Given the description of an element on the screen output the (x, y) to click on. 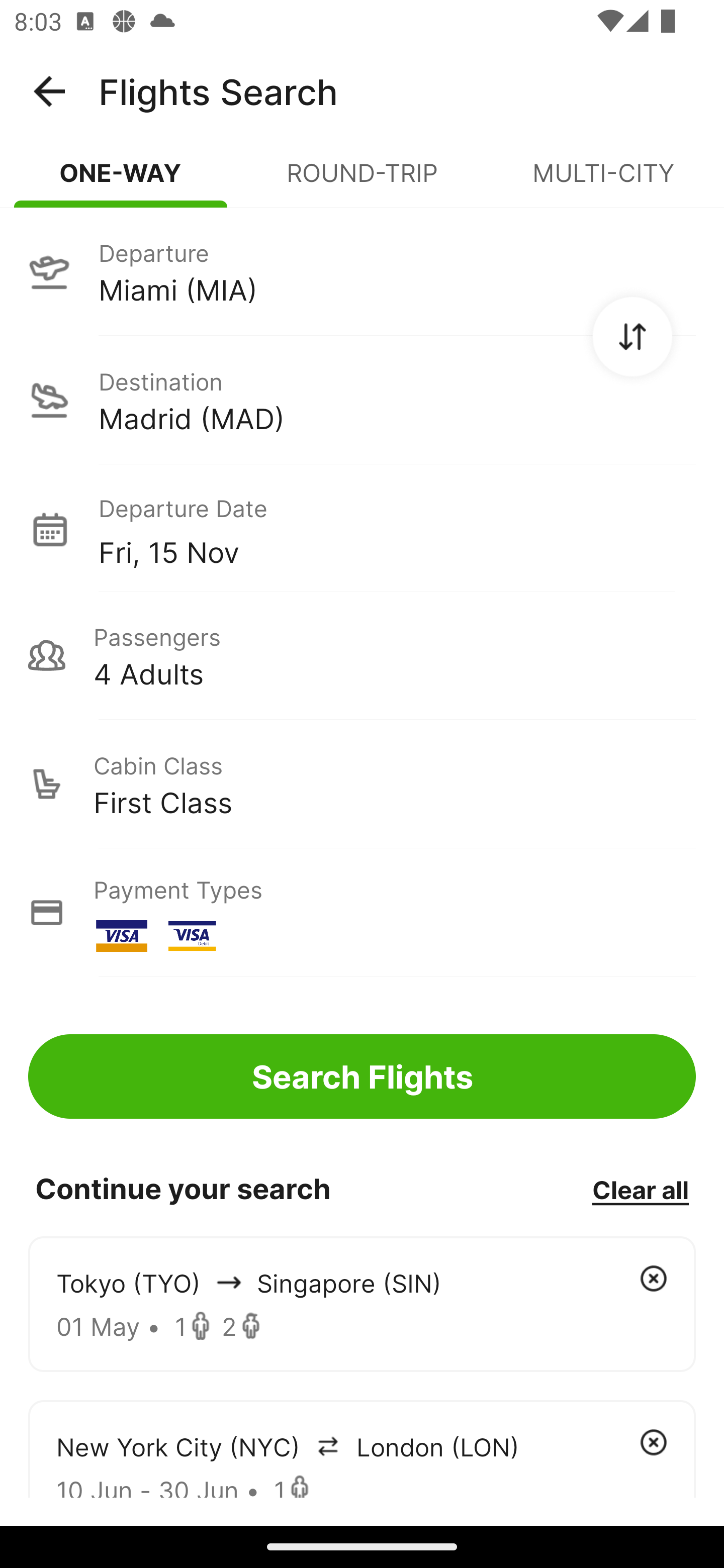
ONE-WAY (120, 180)
ROUND-TRIP (361, 180)
MULTI-CITY (603, 180)
Departure Miami (MIA) (362, 270)
Destination Madrid (MAD) (362, 400)
Departure Date Fri, 15 Nov (396, 528)
Passengers 4 Adults (362, 655)
Cabin Class First Class (362, 783)
Payment Types (362, 912)
Search Flights (361, 1075)
Clear all (640, 1189)
